Given the description of an element on the screen output the (x, y) to click on. 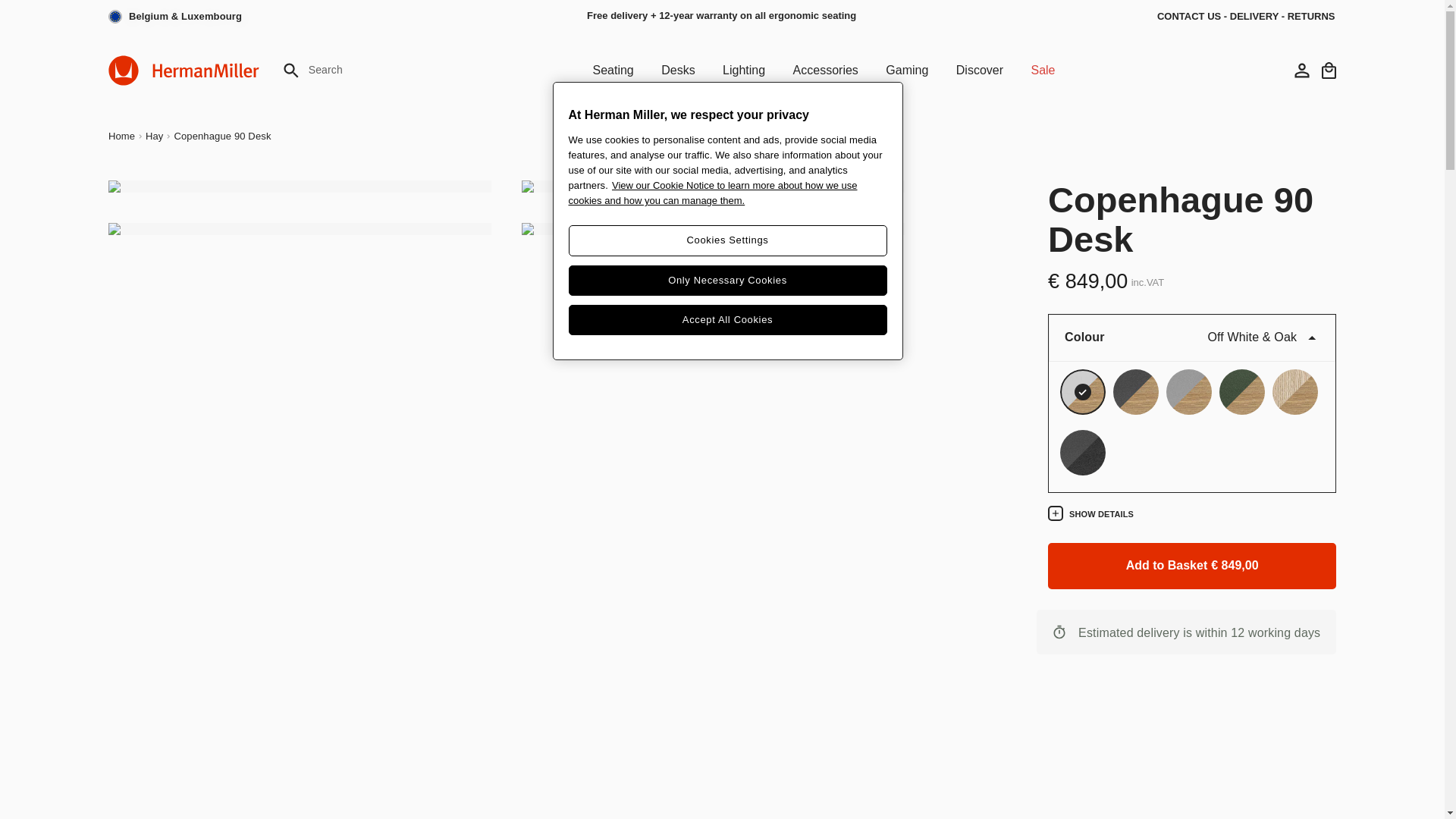
CONTACT US - (1193, 16)
Homepage (183, 70)
Seating (612, 70)
View Cart (1329, 70)
DELIVERY - (1258, 16)
Home (121, 136)
RETURNS (1311, 16)
